Given the description of an element on the screen output the (x, y) to click on. 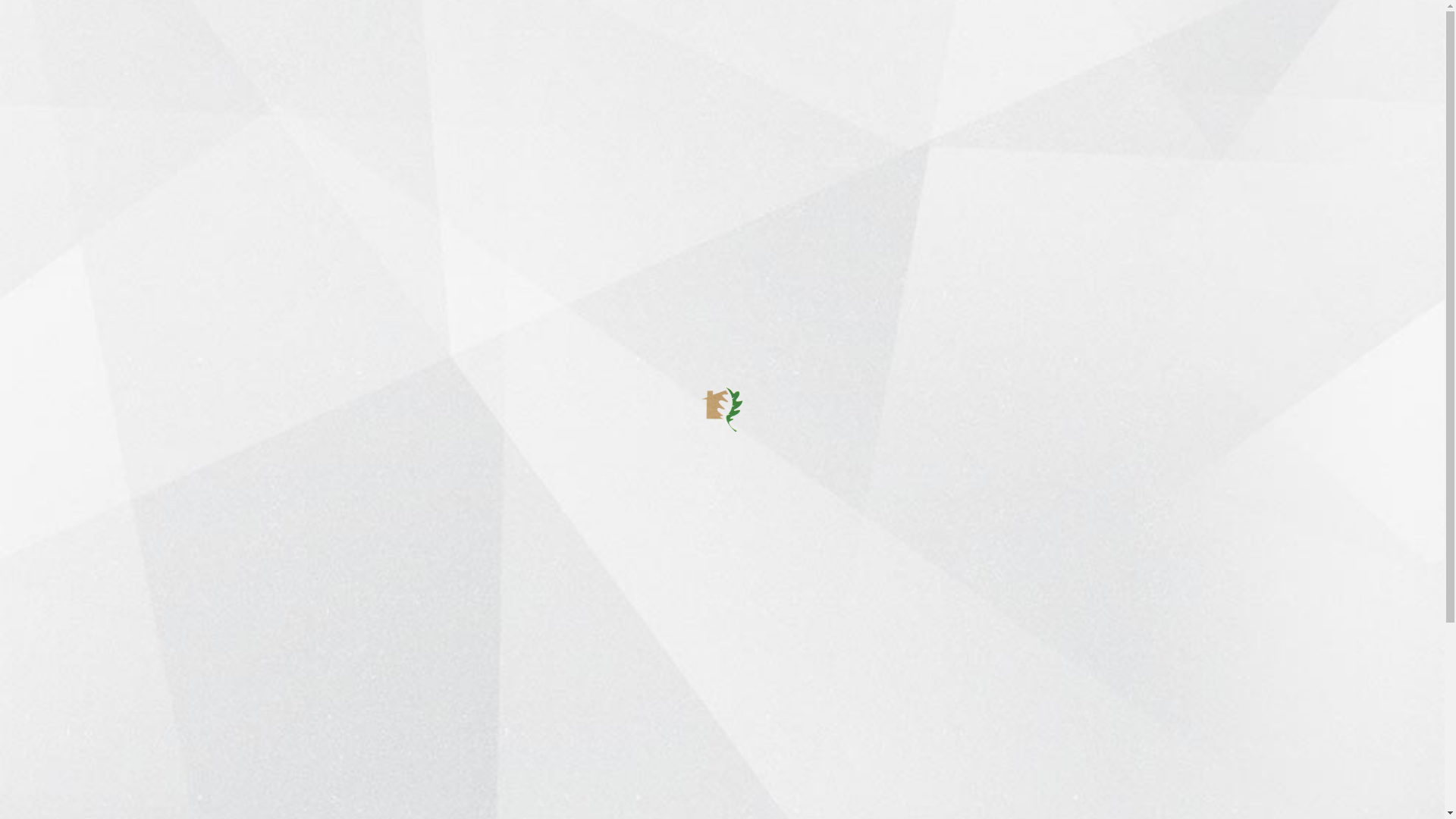
theigc.org (423, 629)
Our Projects (635, 785)
News Feed (512, 43)
Contact Us (986, 43)
People (758, 43)
Our Services (433, 43)
Visitors (808, 43)
Gallery (707, 43)
Vacancy (921, 43)
Our Services (636, 811)
